Given the description of an element on the screen output the (x, y) to click on. 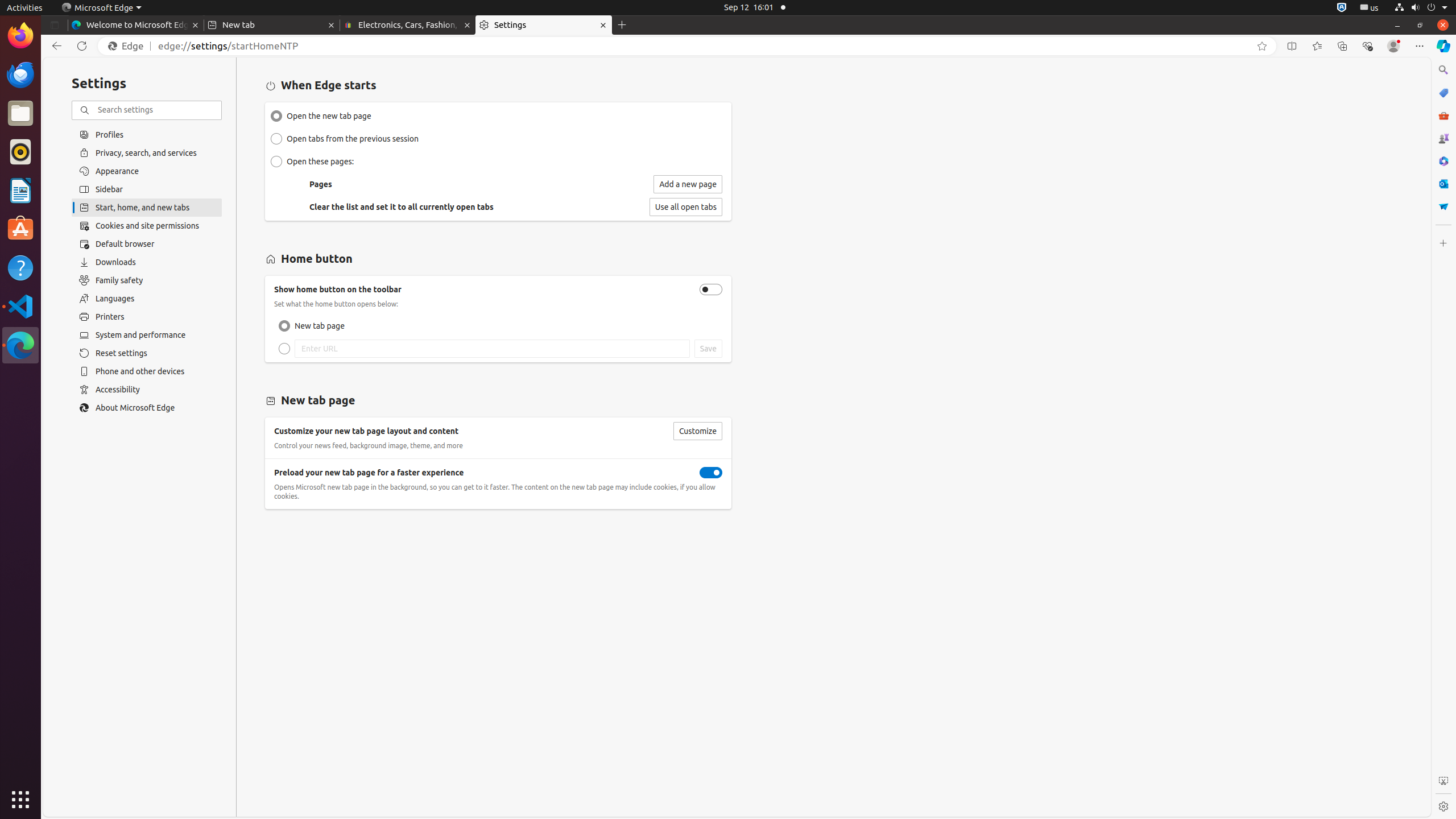
Favorites Element type: push-button (1316, 45)
Refresh Element type: push-button (81, 45)
Show home button on the toolbar Element type: check-box (710, 289)
Settings Element type: page-tab (543, 25)
Customize your new tab page layout and content Element type: push-button (697, 431)
